Given the description of an element on the screen output the (x, y) to click on. 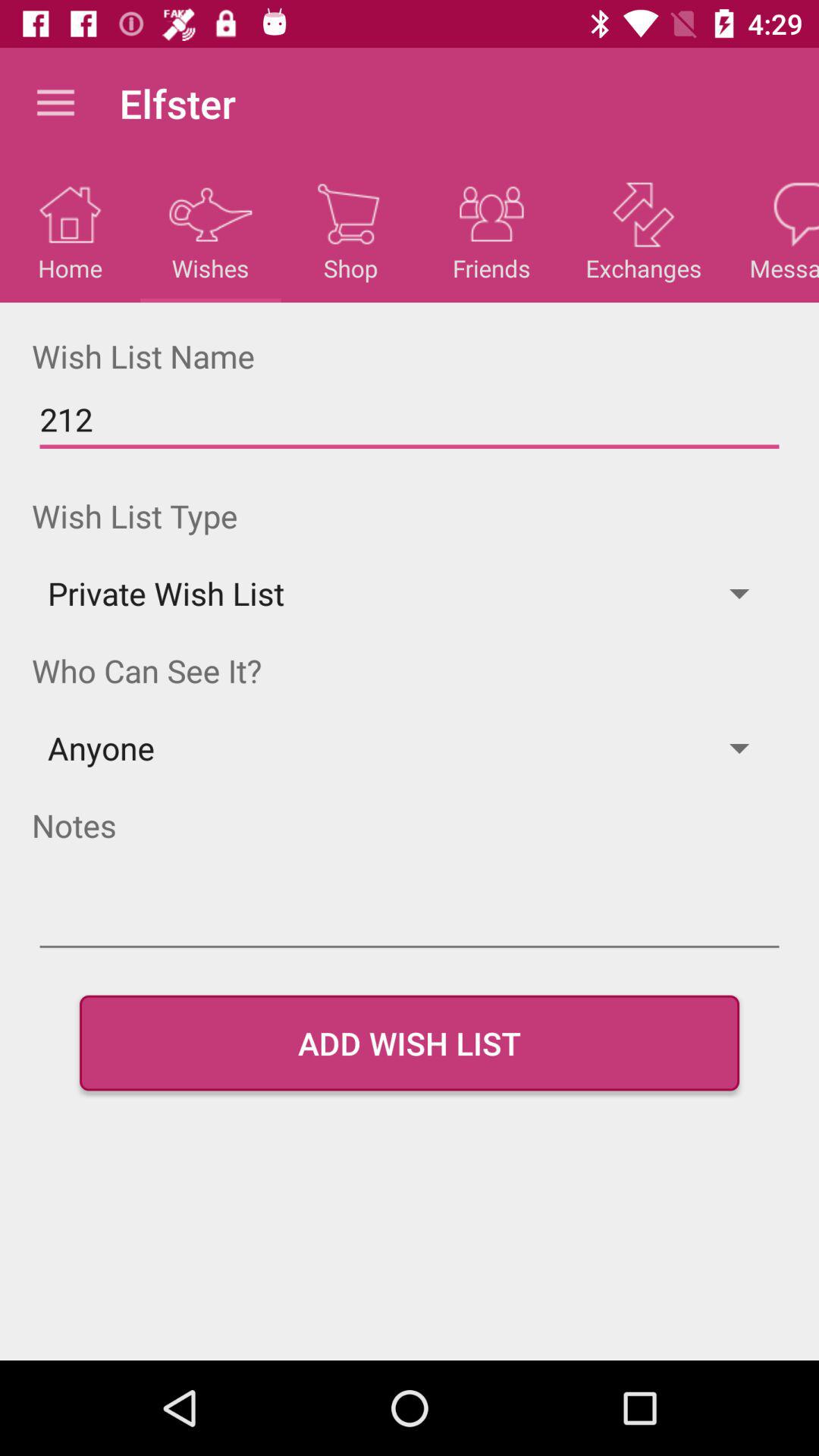
write text (409, 920)
